Given the description of an element on the screen output the (x, y) to click on. 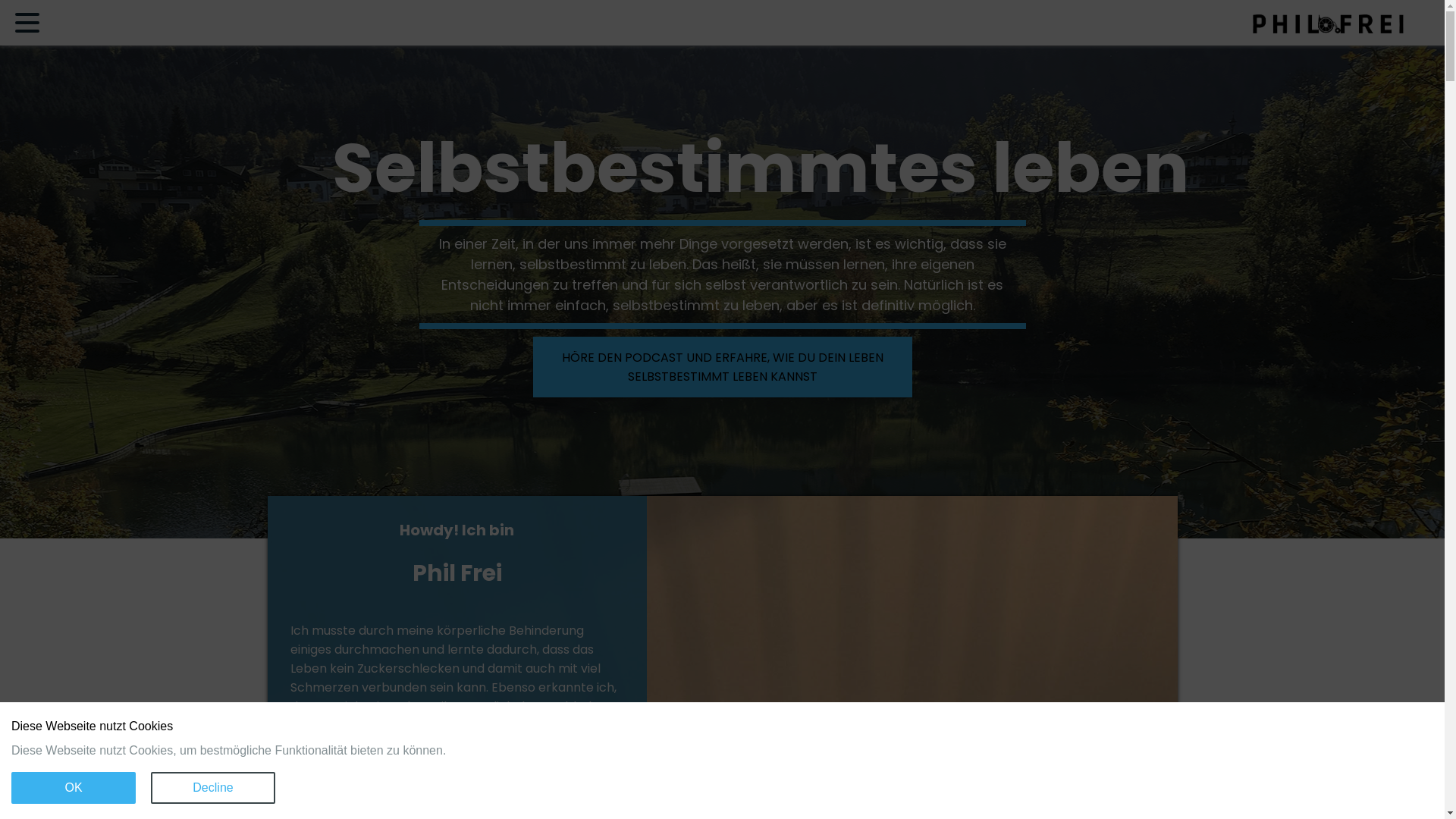
Decline Element type: text (212, 787)
OK Element type: text (73, 787)
